Given the description of an element on the screen output the (x, y) to click on. 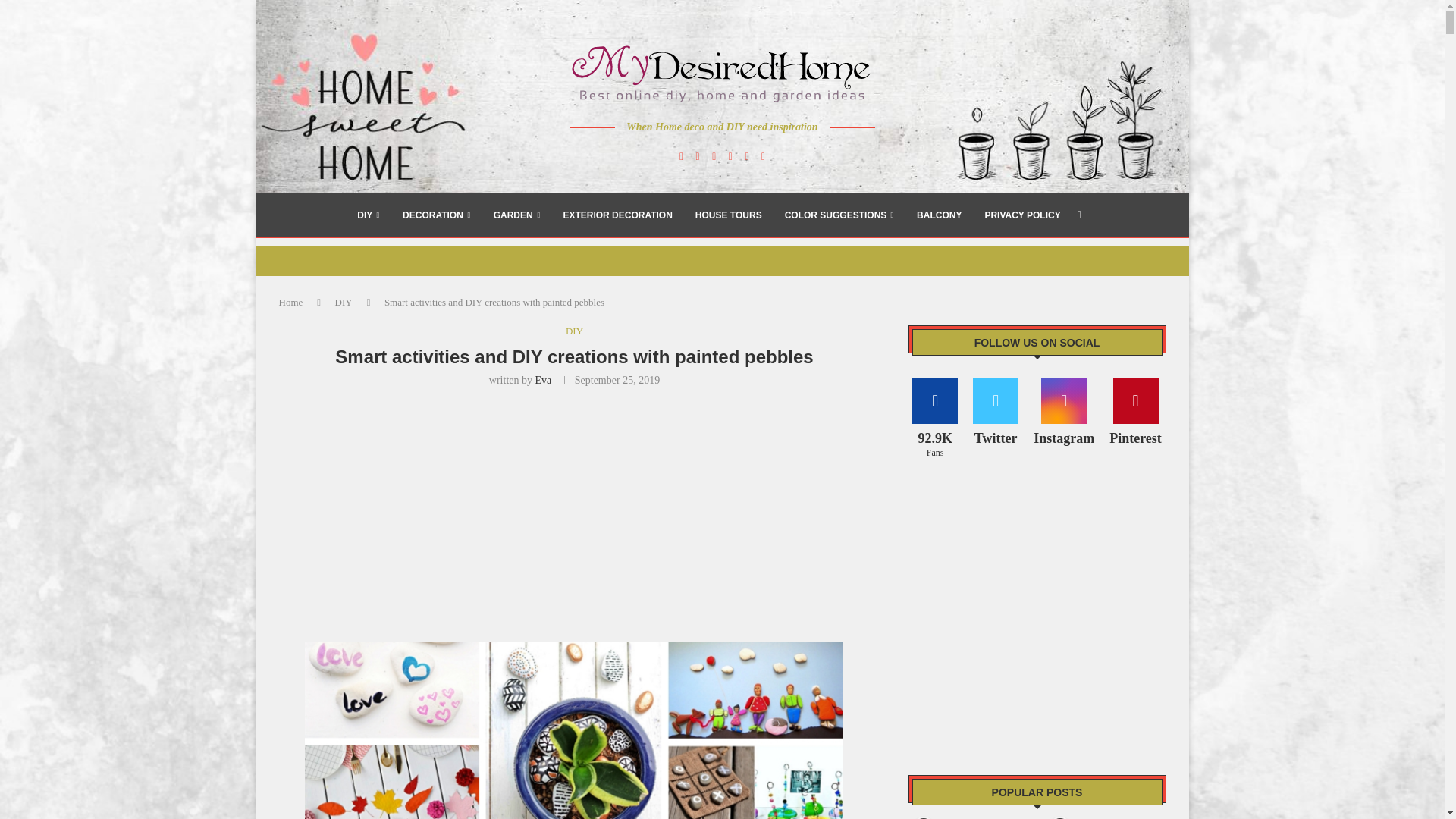
PRIVACY POLICY (1021, 215)
DIY (368, 215)
DIY (343, 301)
DIY (574, 331)
GARDEN (516, 215)
Home (290, 301)
COLOR SUGGESTIONS (838, 215)
Eva (543, 379)
HOUSE TOURS (728, 215)
DECORATION (436, 215)
EXTERIOR DECORATION (616, 215)
BALCONY (938, 215)
